Given the description of an element on the screen output the (x, y) to click on. 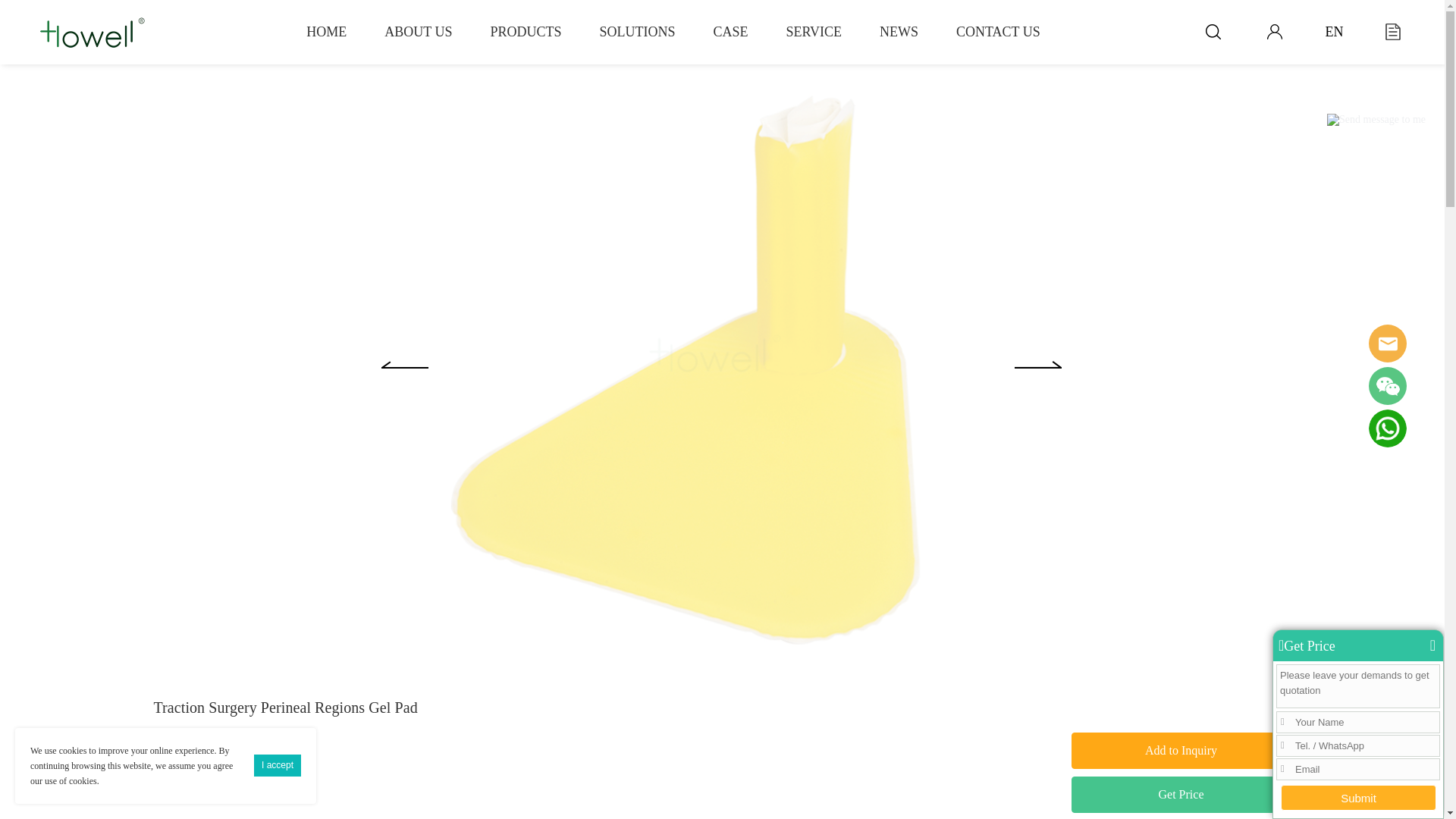
Submit (1358, 797)
SOLUTIONS (636, 32)
I accept (277, 765)
PRODUCTS (524, 32)
ABOUT US (417, 32)
ABOUT US (417, 32)
PRODUCTS (524, 32)
